Given the description of an element on the screen output the (x, y) to click on. 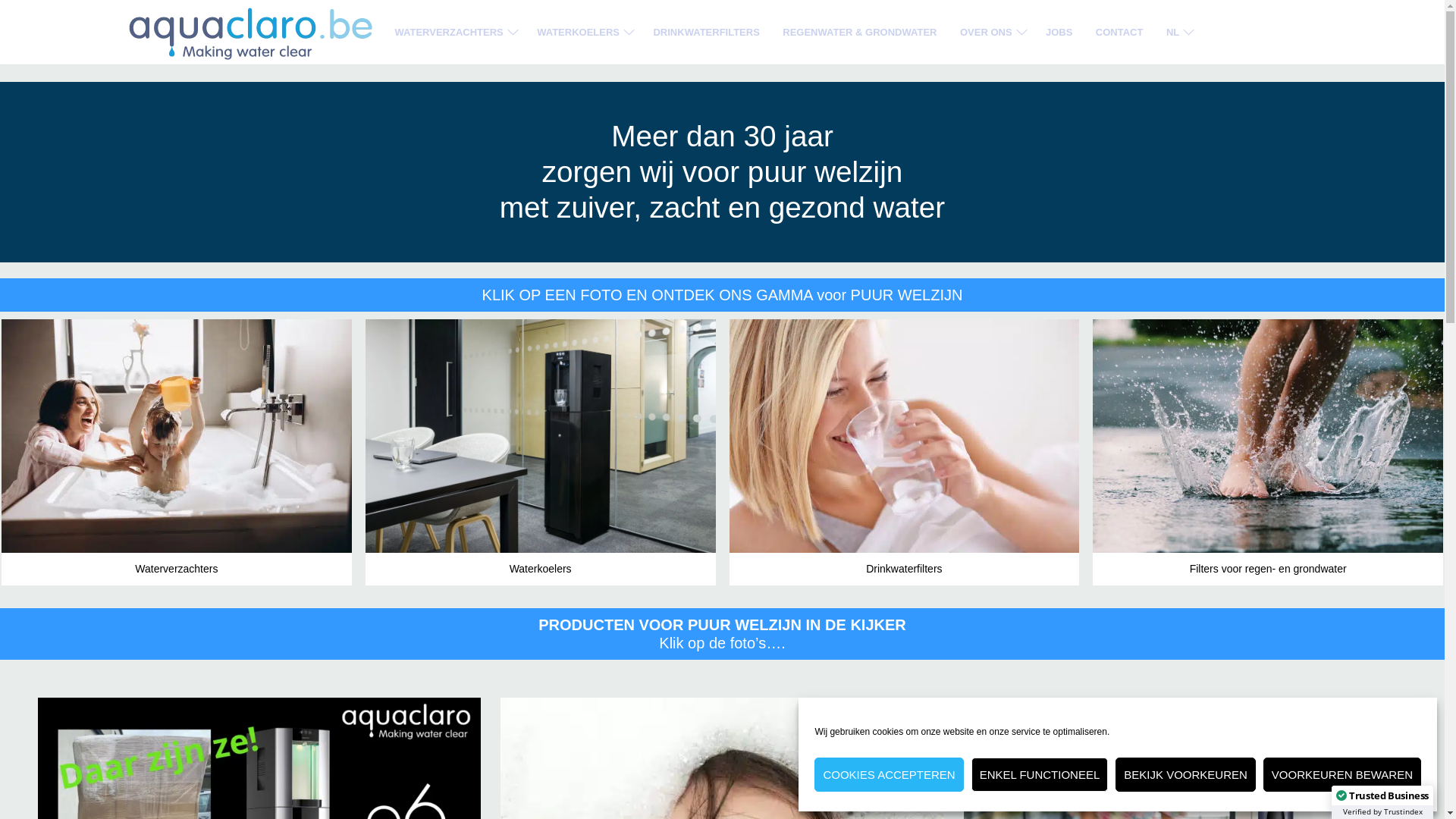
CONTACT Element type: text (1119, 32)
Drinkwaterfilters Element type: text (904, 451)
DRINKWATERFILTERS Element type: text (705, 32)
Waterverzachters Element type: text (176, 451)
ENKEL FUNCTIONEEL Element type: text (1039, 774)
BEKIJK VOORKEUREN Element type: text (1185, 774)
WATERKOELERS
  Element type: text (583, 32)
NL
  Element type: text (1177, 32)
Filters voor regen- en grondwater Element type: text (1267, 451)
COOKIES ACCEPTEREN Element type: text (888, 774)
REGENWATER & GRONDWATER Element type: text (859, 32)
Waterkoelers Element type: text (540, 451)
WATERVERZACHTERS
  Element type: text (454, 32)
VOORKEUREN BEWAREN Element type: text (1342, 774)
OVER ONS
  Element type: text (991, 32)
JOBS Element type: text (1058, 32)
